Given the description of an element on the screen output the (x, y) to click on. 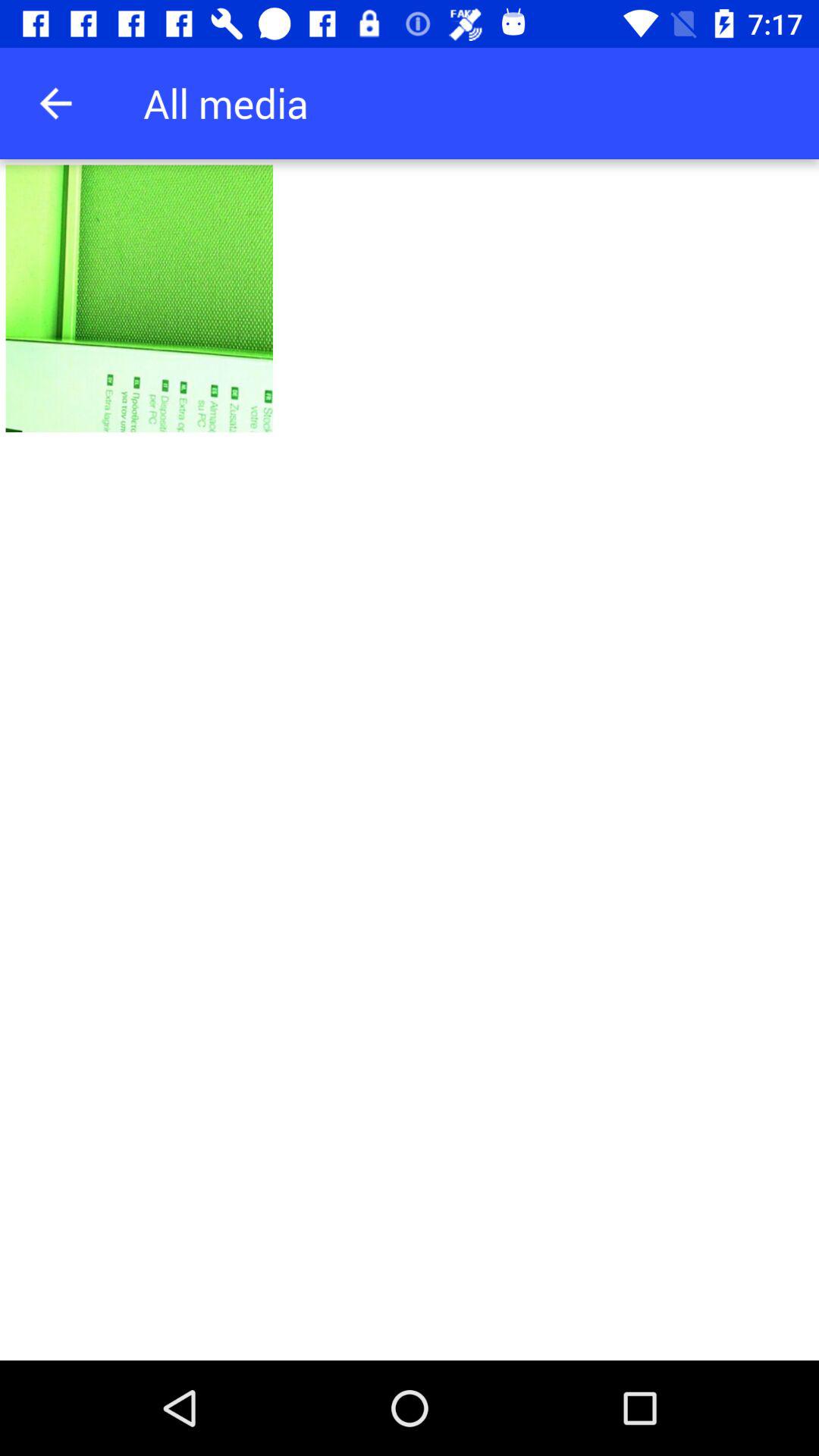
go back (55, 103)
